Given the description of an element on the screen output the (x, y) to click on. 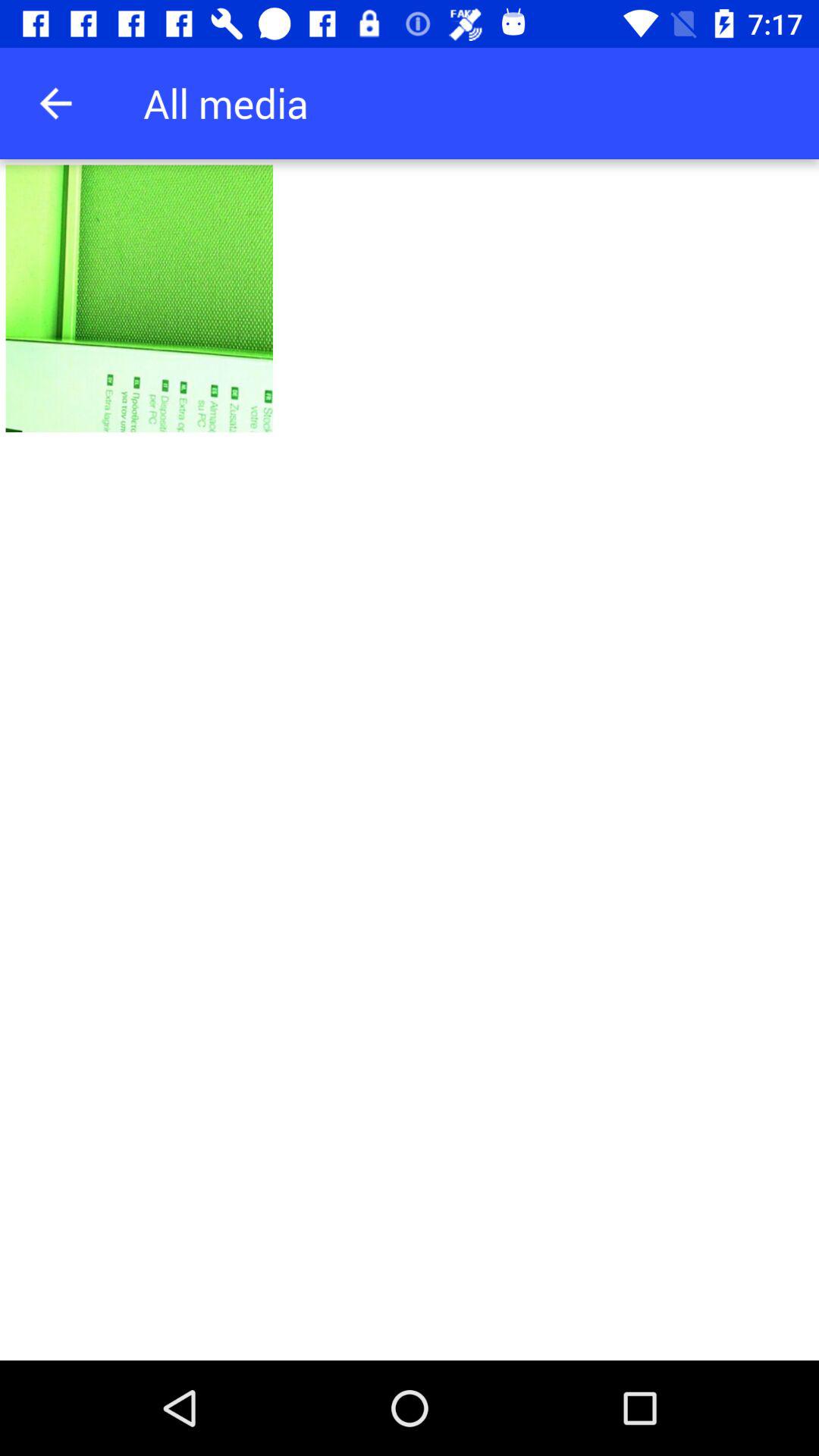
go back (55, 103)
